Given the description of an element on the screen output the (x, y) to click on. 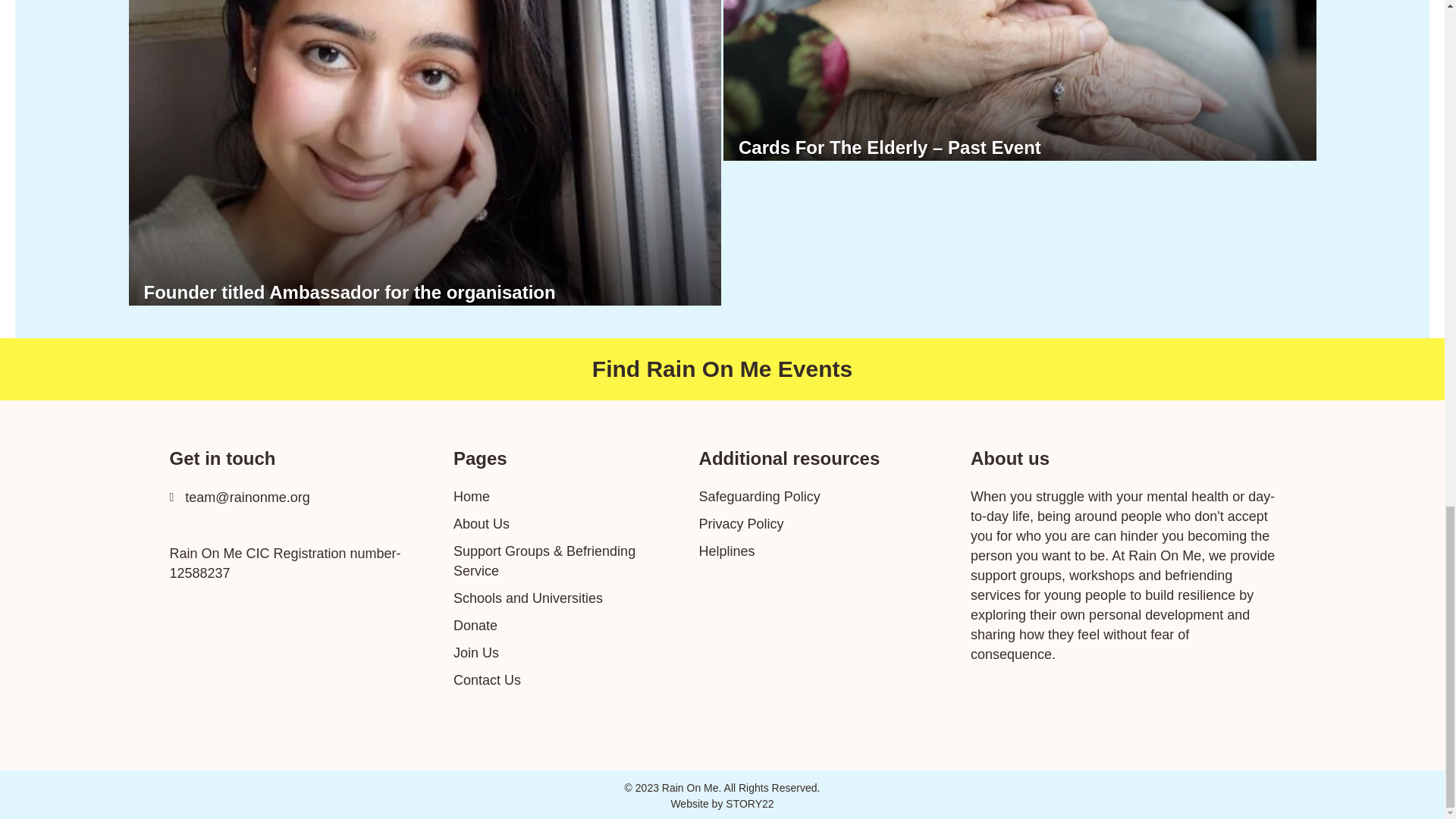
Founder titled Ambassador for the organisation (350, 291)
Home (470, 496)
Helplines (726, 550)
About Us (480, 523)
Safeguarding Policy  (761, 496)
Schools and Universities (527, 598)
STORY22 (749, 803)
Join Us (475, 652)
Founder titled Ambassador for the organisation (350, 291)
Find Rain On Me Events (721, 368)
Donate (474, 625)
Contact Us (486, 679)
Privacy Policy  (742, 523)
Find Rain On Me Events (721, 368)
